Given the description of an element on the screen output the (x, y) to click on. 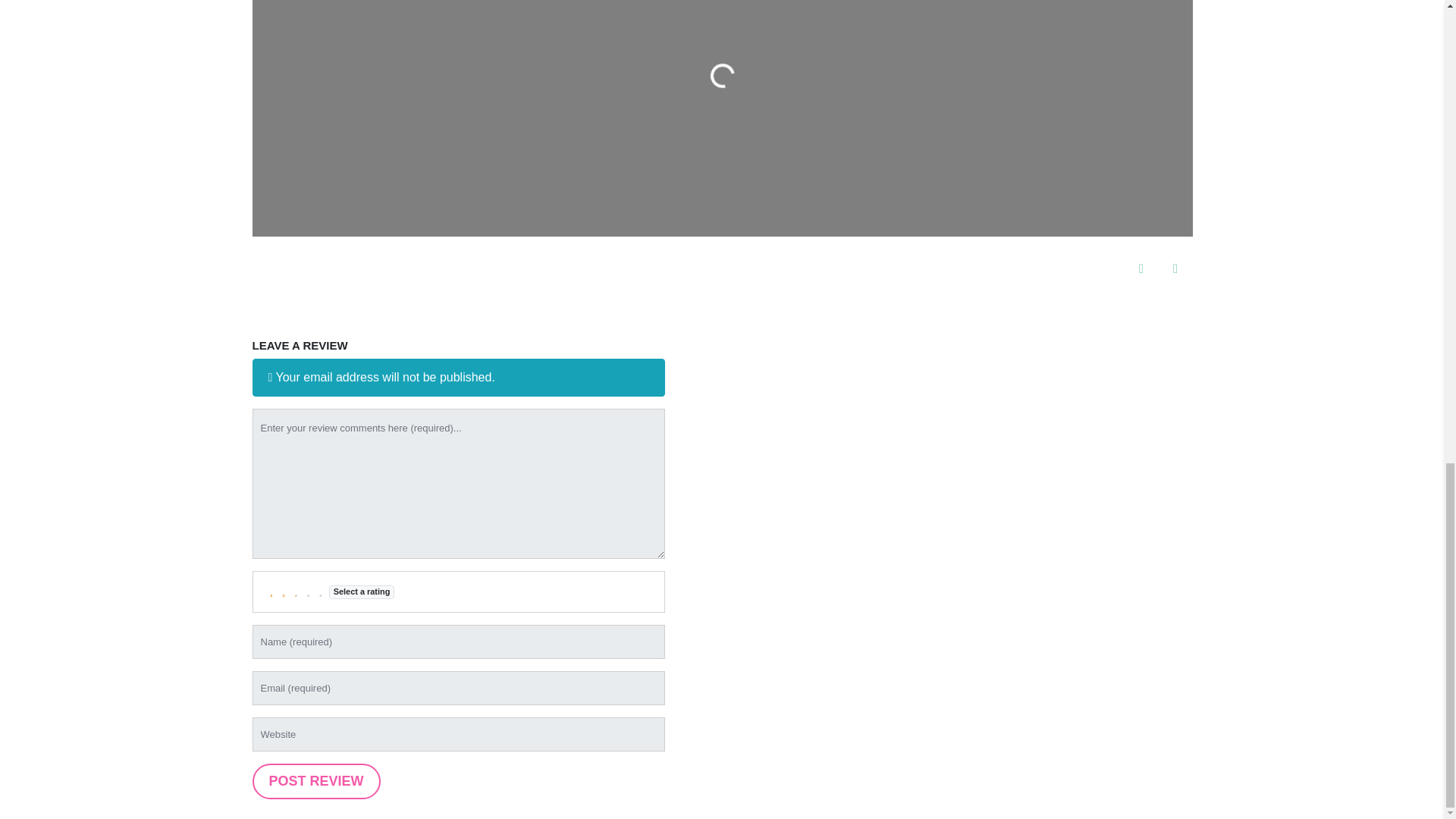
Terrible (271, 591)
Poor (283, 591)
Post Review (315, 781)
Very Good (307, 591)
Excellent (320, 591)
Average (295, 591)
